Given the description of an element on the screen output the (x, y) to click on. 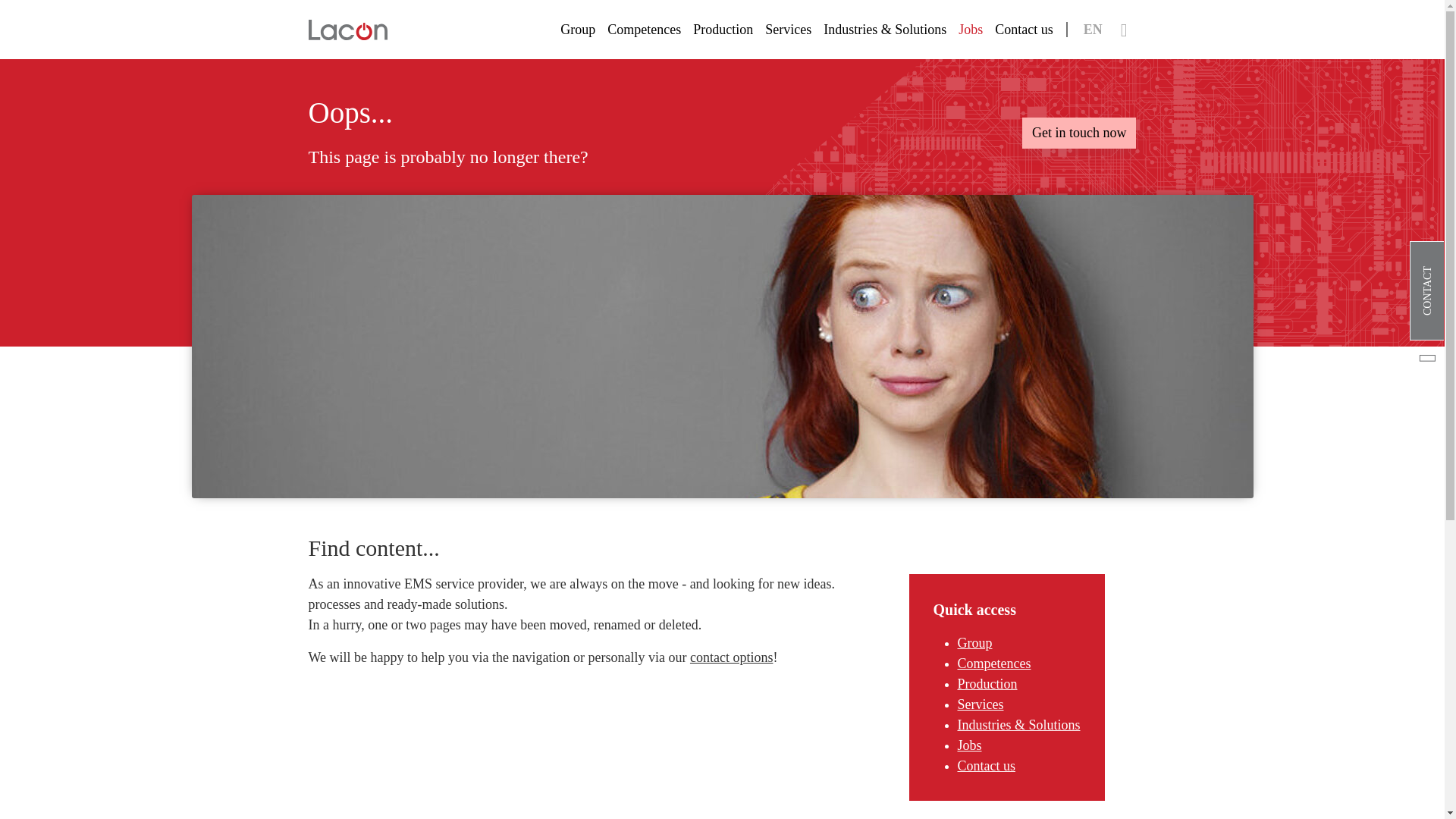
Competences (993, 663)
Production (986, 683)
Jobs (968, 744)
Contact us (985, 765)
Services (979, 703)
Competences (644, 29)
Services (787, 29)
Production (722, 29)
Group (973, 642)
Group (577, 29)
